Given the description of an element on the screen output the (x, y) to click on. 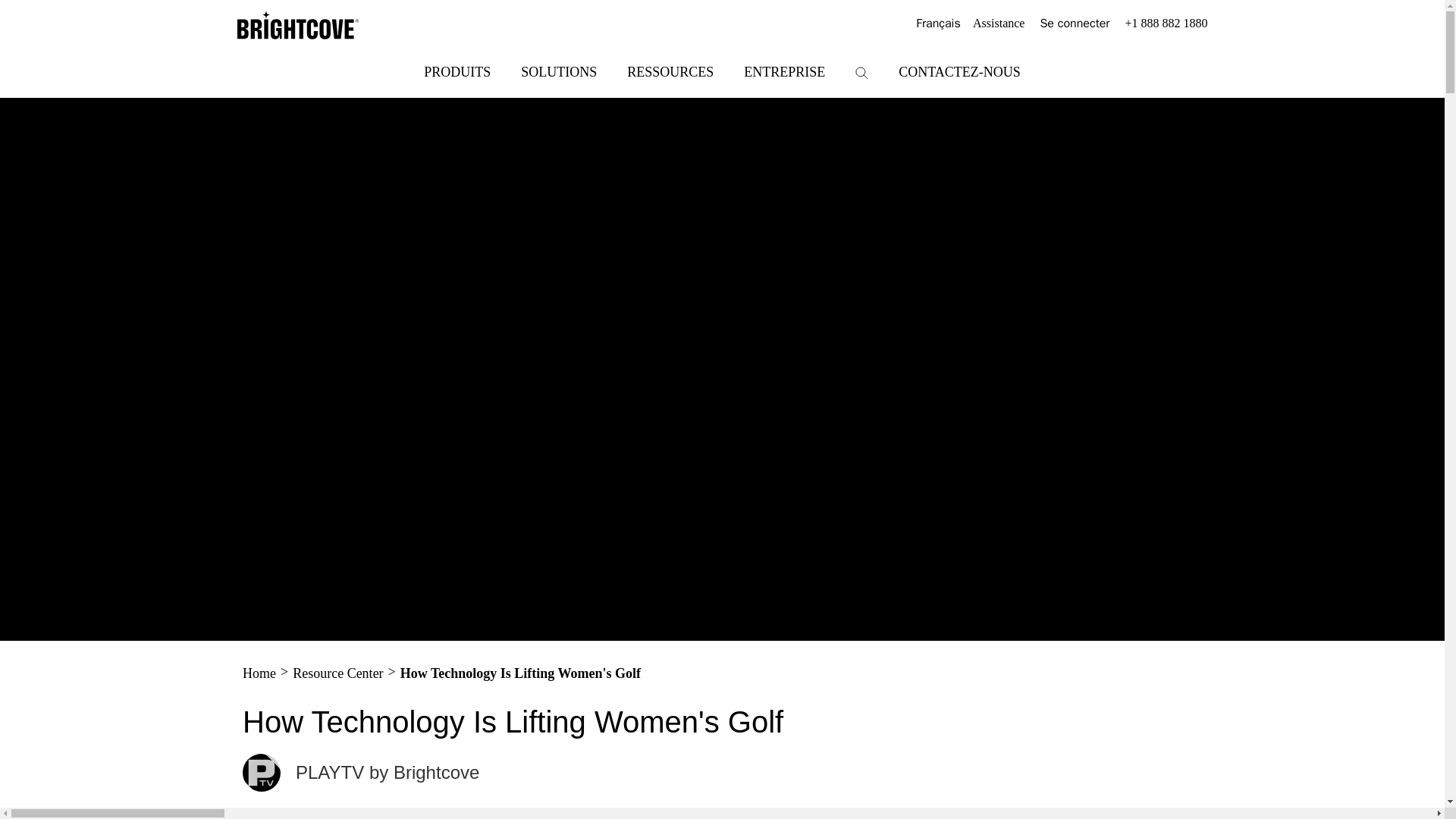
Home (259, 673)
Se connecter (1074, 23)
PLAYTV by Brightcove (361, 772)
Assistance (998, 23)
SEARCH ICONA MAGNIFYING GLASS ICON. (861, 72)
CONTACTEZ-NOUS (959, 71)
Resource Center (337, 673)
